Given the description of an element on the screen output the (x, y) to click on. 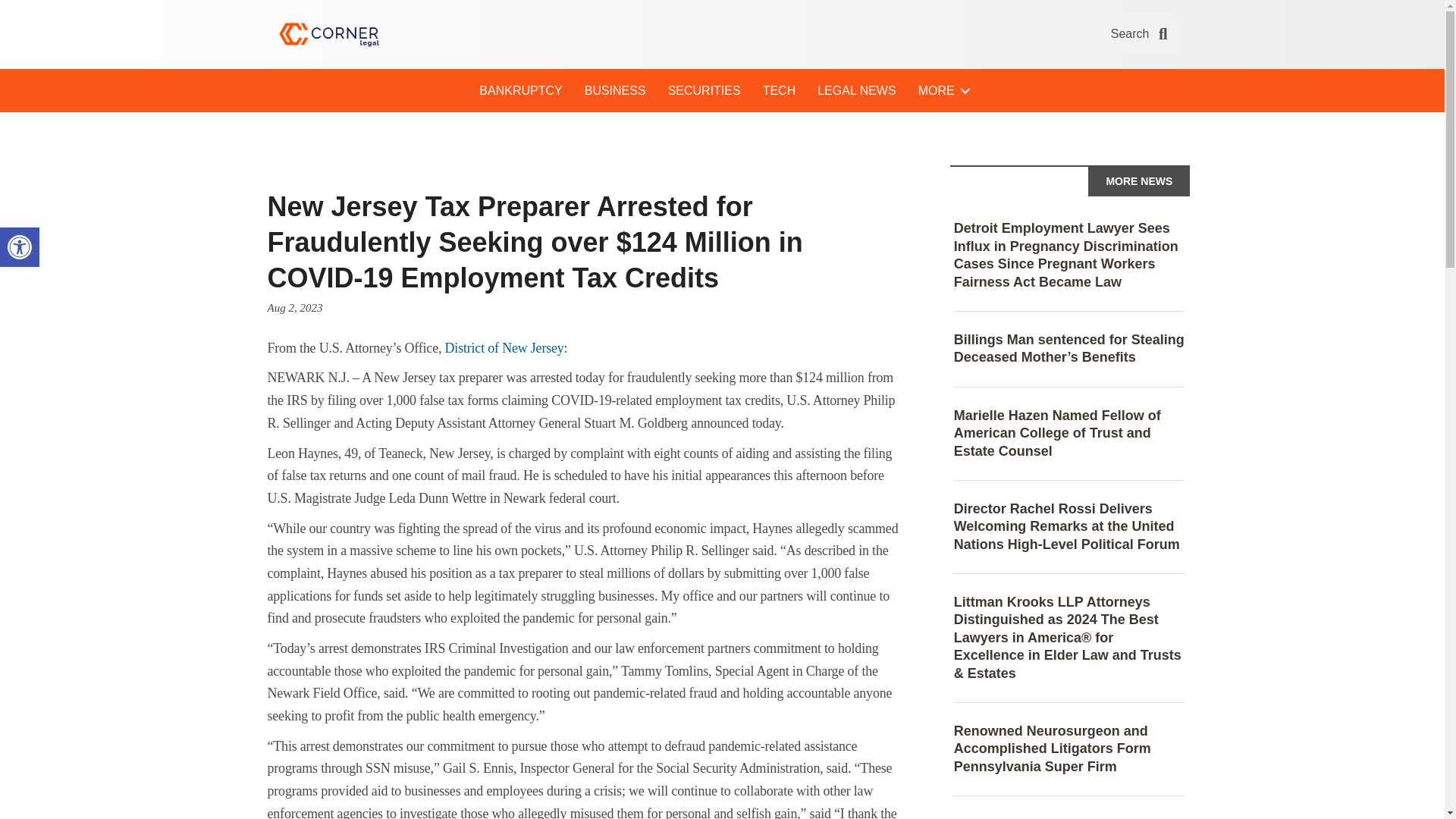
LEGAL NEWS (855, 90)
MORE (941, 90)
BANKRUPTCY (520, 90)
Search (1138, 34)
TECH (779, 90)
Accessibility Tools (19, 247)
SECURITIES (704, 90)
District of New Jersey (504, 347)
corner-legal-v2 (328, 34)
BUSINESS (614, 90)
